Given the description of an element on the screen output the (x, y) to click on. 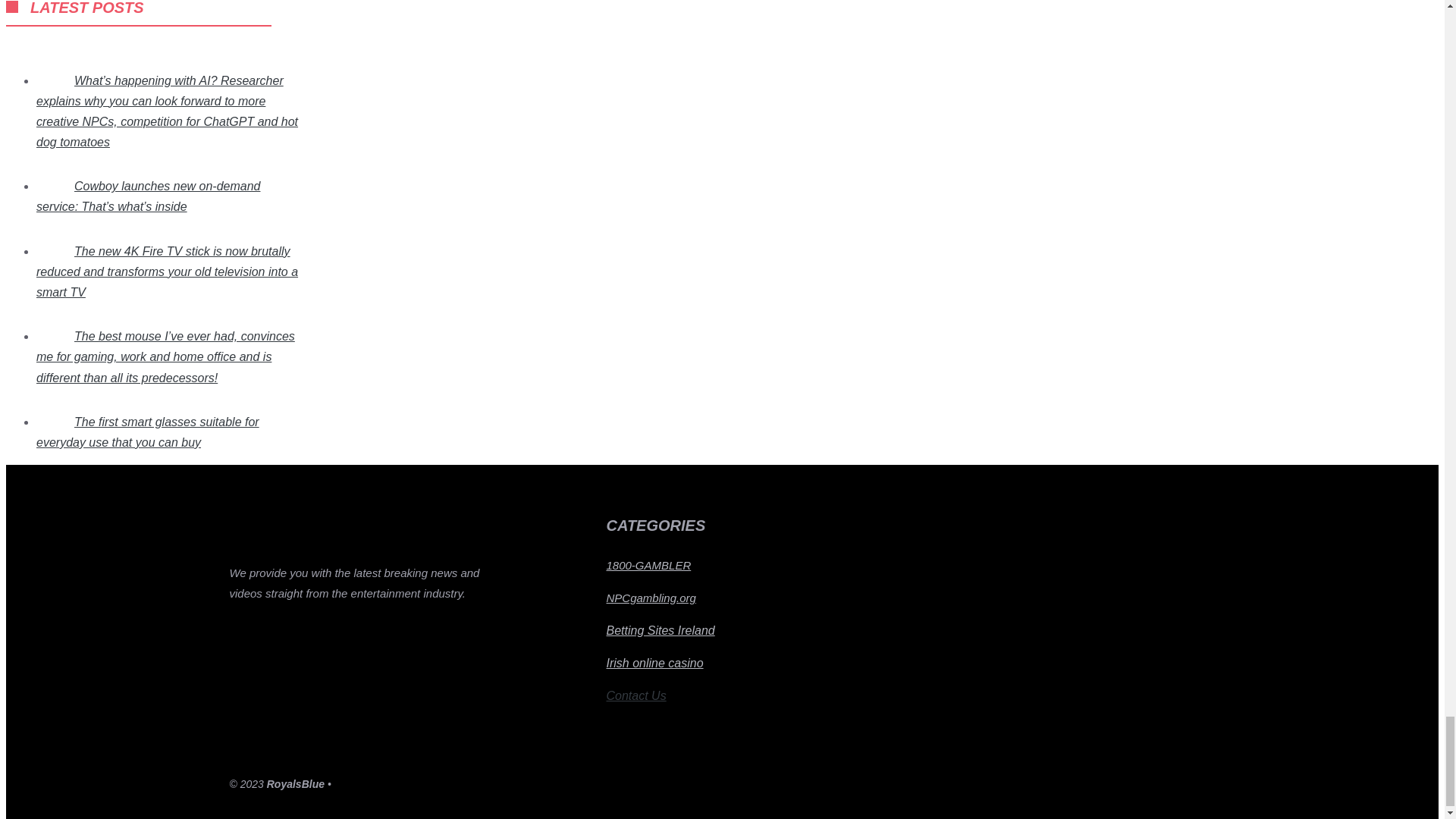
SORRY, YOUR BROWSER DOES NOT SUPPORT INLINE SVG. (11, 6)
